Given the description of an element on the screen output the (x, y) to click on. 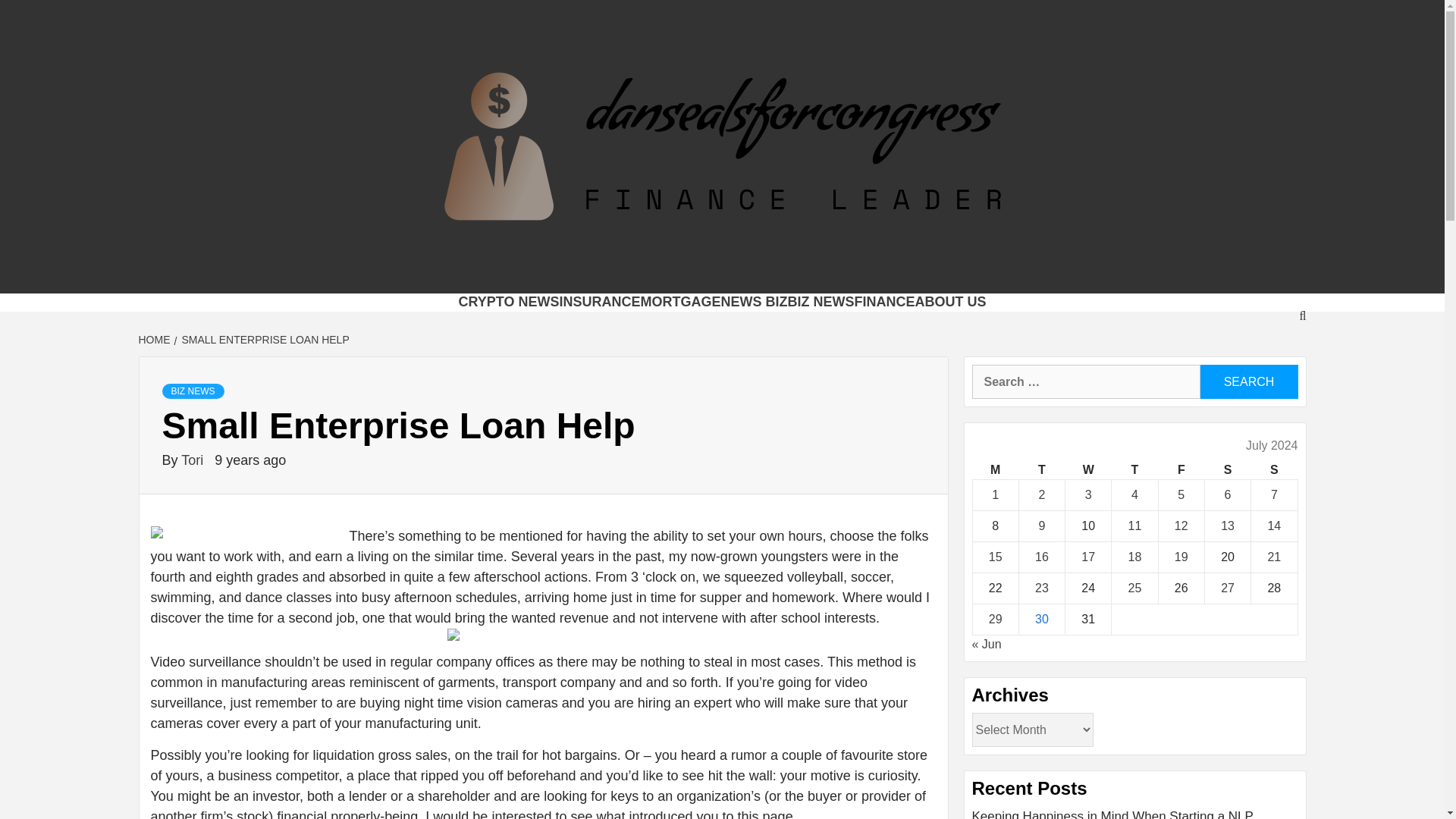
ABOUT US (951, 301)
Search (1248, 381)
13 (1227, 525)
12 (1181, 525)
Saturday (1227, 470)
BIZ NEWS (820, 301)
Search (1248, 381)
Wednesday (1088, 470)
CRYPTO NEWS (508, 301)
BIZ NEWS (192, 391)
Search (1248, 381)
11 (1134, 525)
DANSEALSFORCONGRESS (647, 273)
MORTGAGE (680, 301)
15 (995, 556)
